Given the description of an element on the screen output the (x, y) to click on. 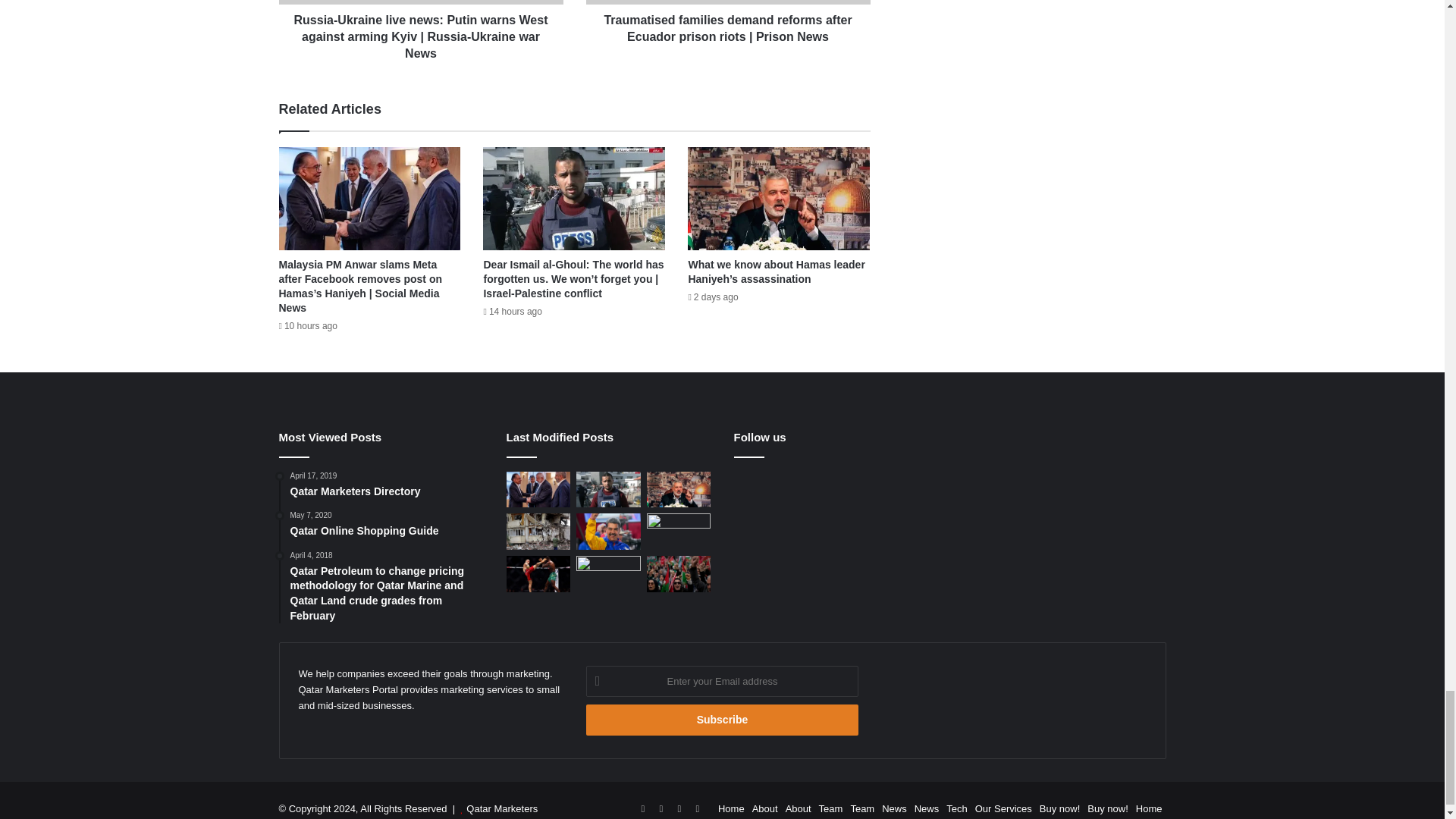
Subscribe (722, 719)
